Given the description of an element on the screen output the (x, y) to click on. 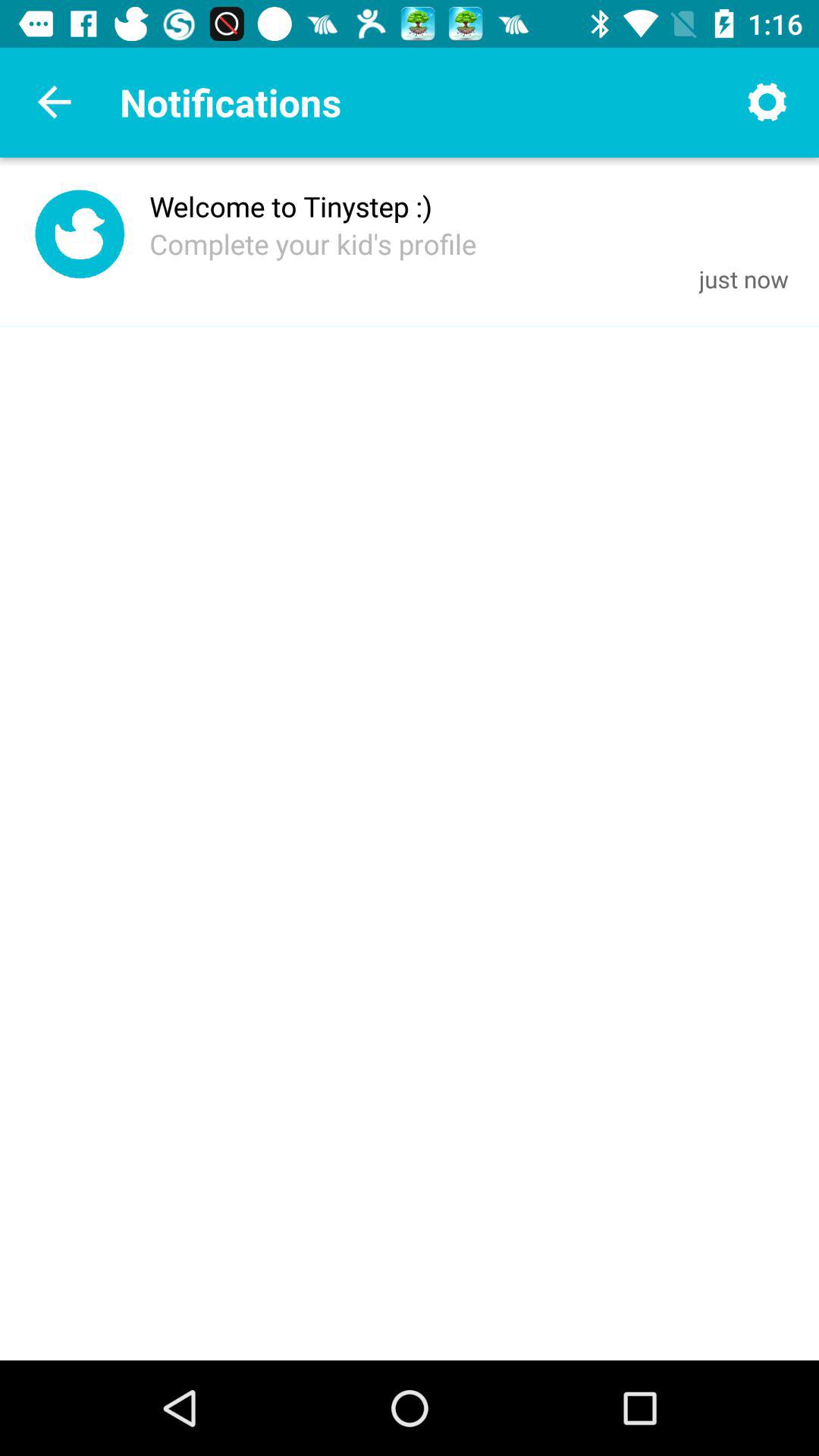
launch the item to the left of the welcome to tinystep :) icon (79, 237)
